Given the description of an element on the screen output the (x, y) to click on. 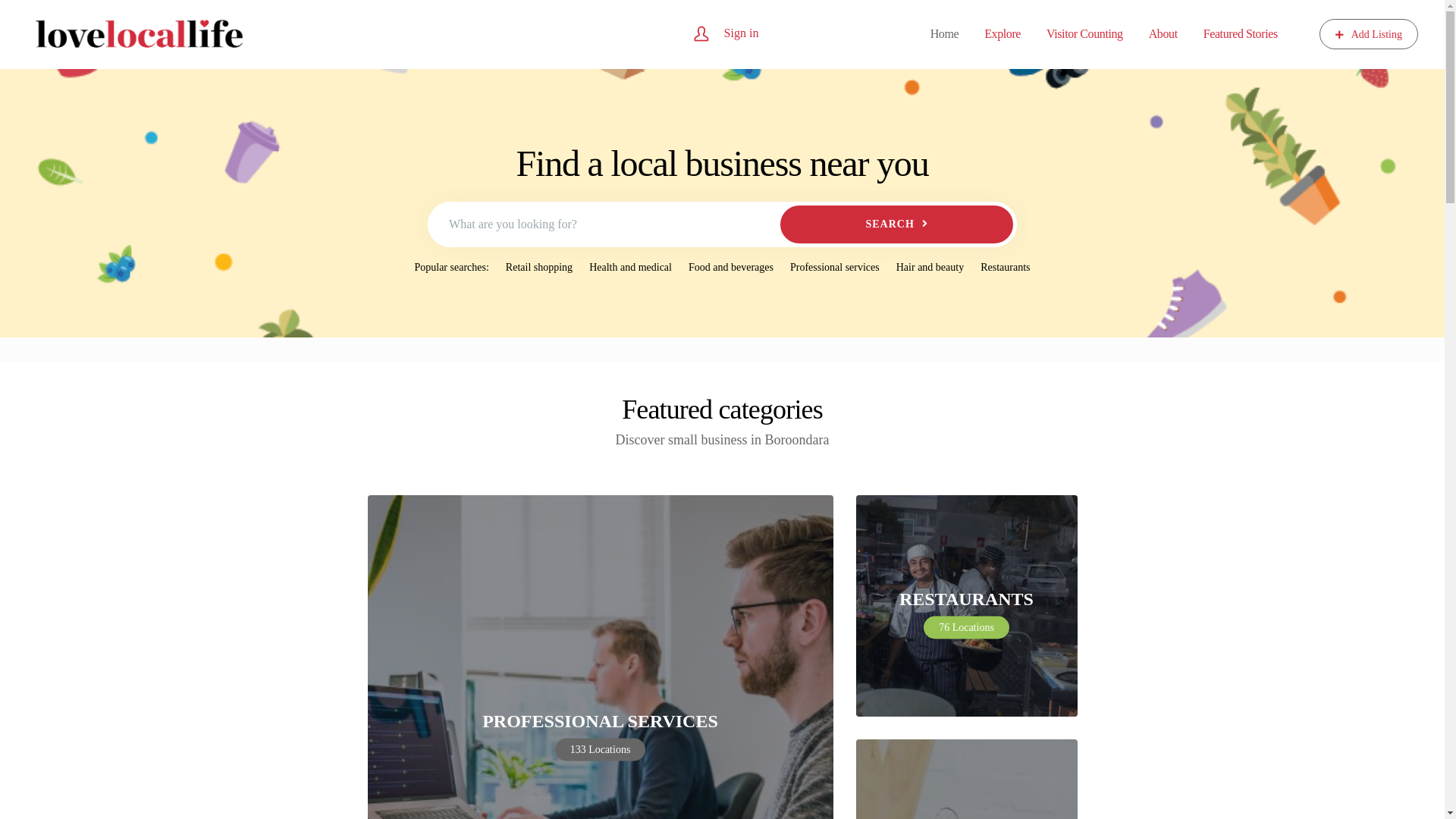
Restaurants Element type: text (965, 605)
Food and beverages Element type: text (730, 267)
Sign in Element type: text (741, 31)
Hair and beauty Element type: text (929, 267)
Health and medical Element type: text (630, 267)
Restaurants Element type: text (1004, 267)
Featured Stories Element type: text (1240, 34)
About Element type: text (1162, 34)
Home Element type: text (944, 34)
Professional services Element type: text (834, 267)
Add Listing Element type: text (1368, 33)
Explore Element type: text (1002, 34)
Visitor Counting Element type: text (1084, 34)
Retail shopping Element type: text (538, 267)
SEARCH Element type: text (896, 224)
